Given the description of an element on the screen output the (x, y) to click on. 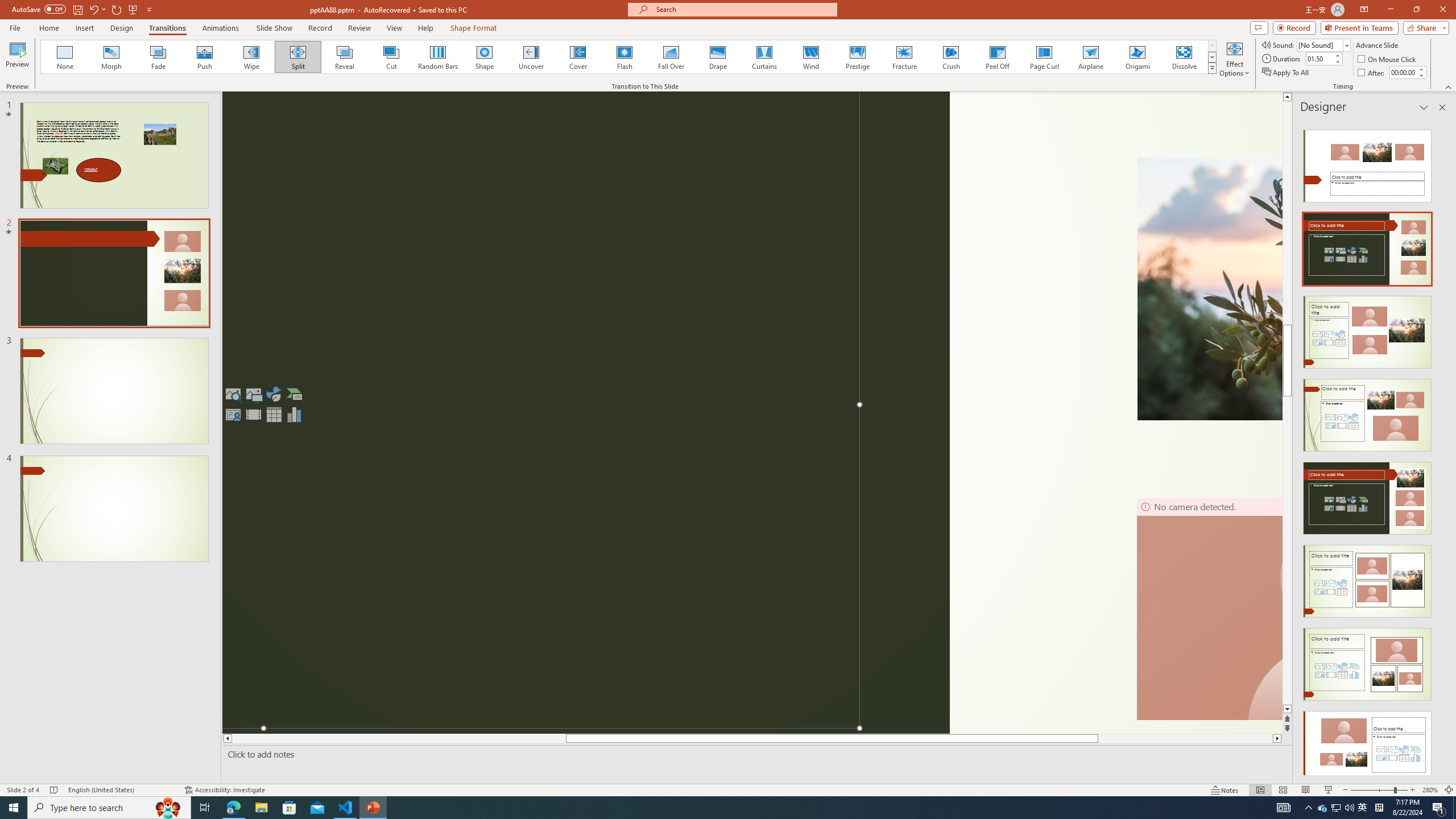
Design Idea (1366, 743)
Page Curl (1043, 56)
Insert Chart (294, 414)
Split (298, 56)
Uncover (531, 56)
Peel Off (997, 56)
Dissolve (1183, 56)
